Given the description of an element on the screen output the (x, y) to click on. 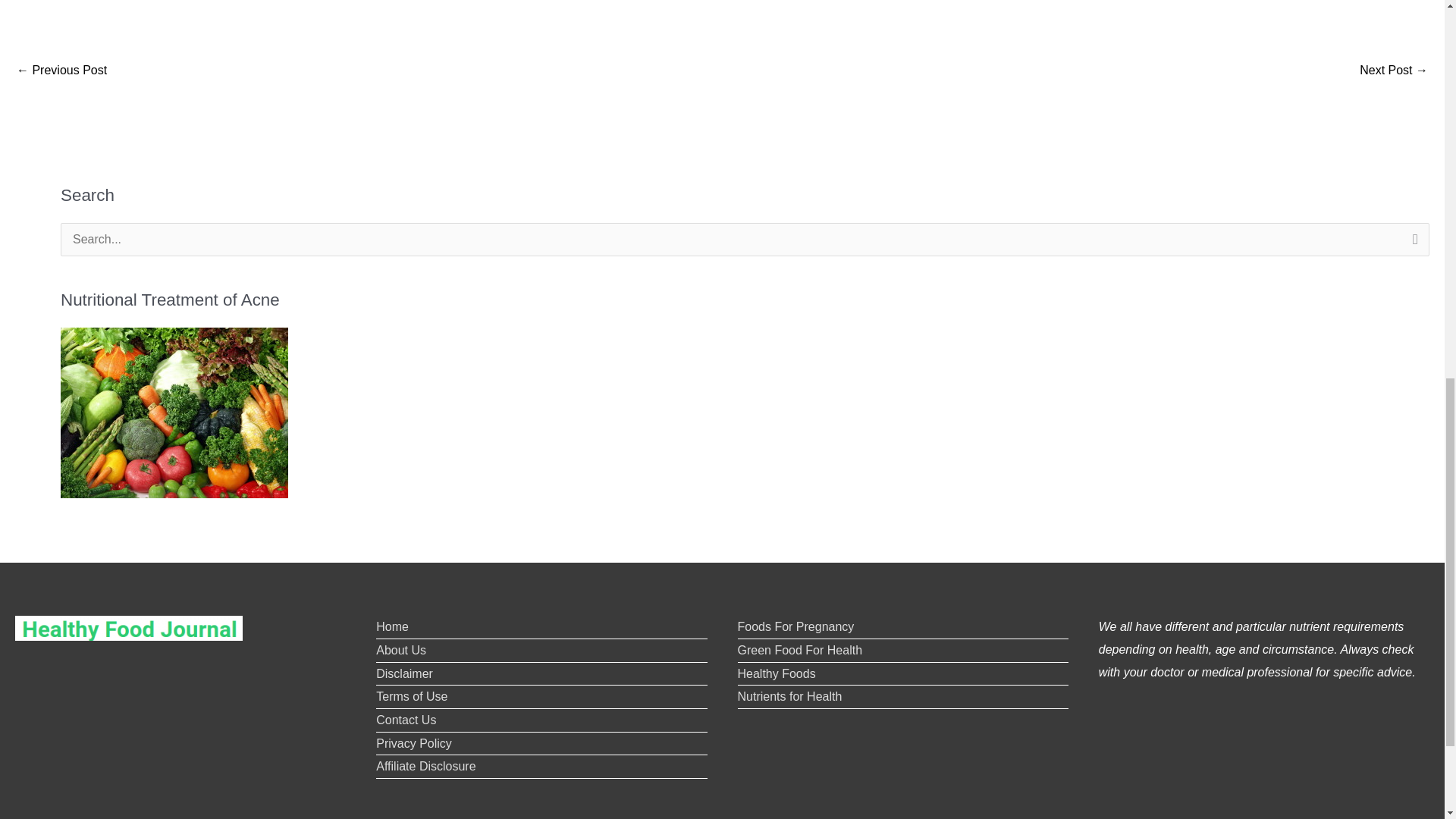
About Us (400, 649)
Foods For Pregnancy (794, 626)
Parenting Websites and Pregnancy Blogs (1393, 71)
Privacy Policy (413, 743)
Dog Food Turkey Recipes (61, 71)
Healthy Foods (775, 673)
Home (392, 626)
Disclaimer (403, 673)
Affiliate Disclosure (425, 766)
Nutrients for Health (788, 696)
Terms of Use (410, 696)
Contact Us (405, 719)
Green Food For Health (798, 649)
